Given the description of an element on the screen output the (x, y) to click on. 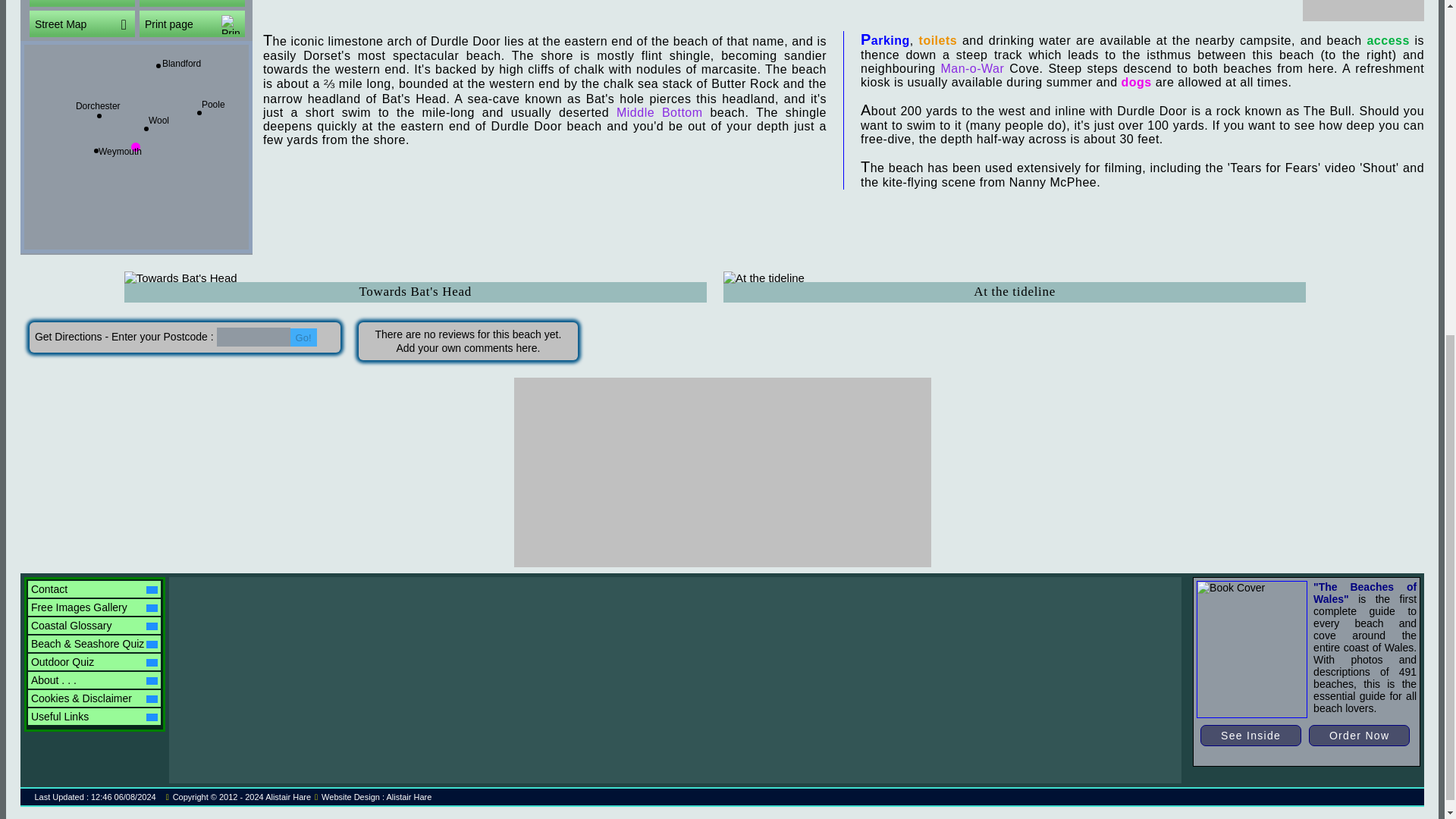
Man-o-War (972, 68)
Contact (93, 588)
Free Images Gallery (93, 606)
Middle Bottom (659, 112)
Go! (303, 337)
Print page (191, 23)
Coastal Glossary (93, 625)
Go! (303, 337)
